Given the description of an element on the screen output the (x, y) to click on. 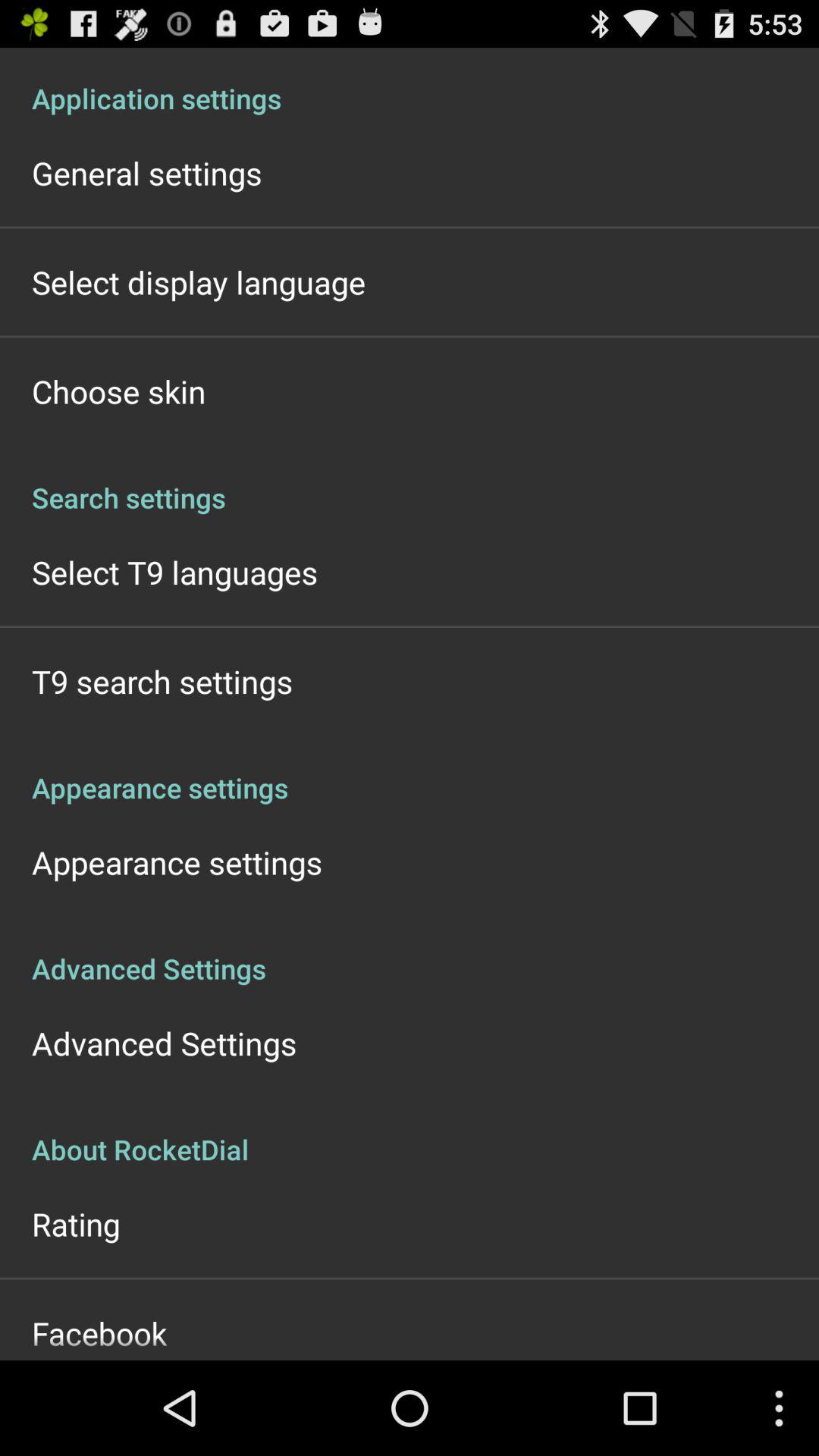
launch the icon above choose skin (198, 281)
